Given the description of an element on the screen output the (x, y) to click on. 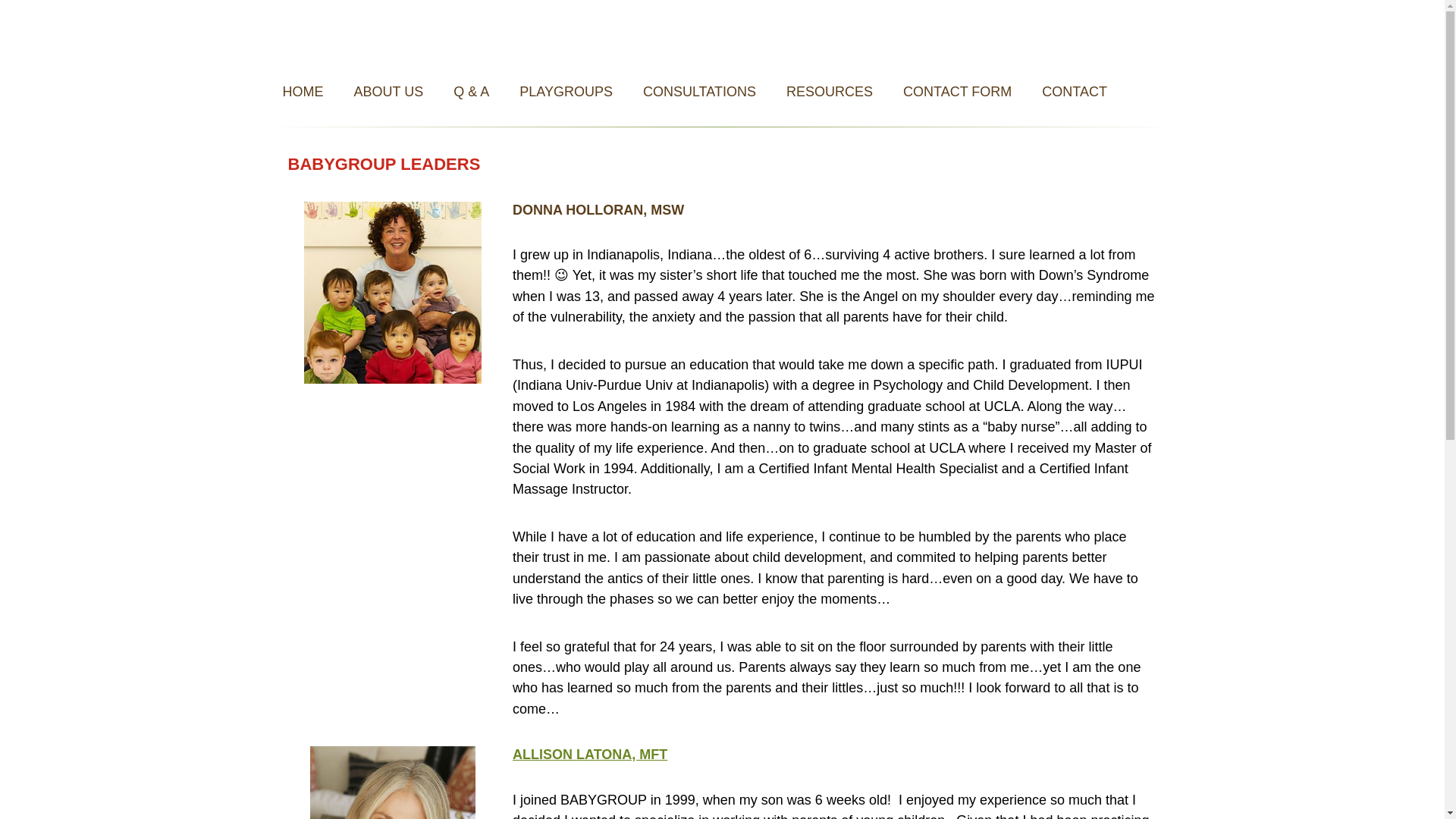
CONSULTATIONS (699, 91)
CONTACT FORM (957, 91)
RESOURCES (829, 91)
ABOUT US (387, 91)
HOME (301, 91)
Babygroup, Inc. Parenting Classes in Los Angeles (721, 35)
PLAYGROUPS (565, 91)
ALLISON LATONA, MFT (589, 754)
CONTACT (1074, 91)
